Given the description of an element on the screen output the (x, y) to click on. 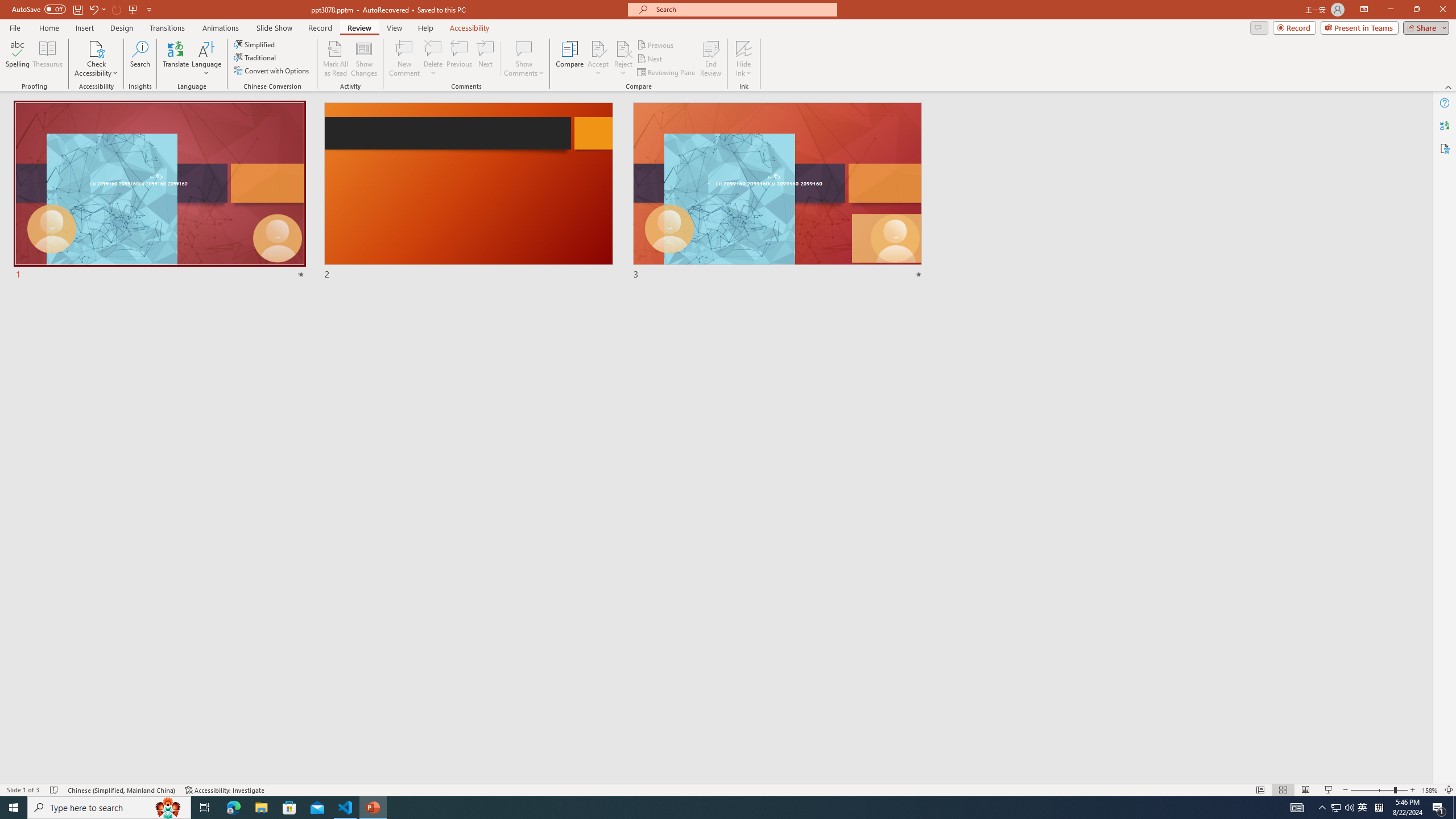
Accept Change (598, 48)
Spelling... (17, 58)
Convert with Options... (272, 69)
Accept (598, 58)
